Given the description of an element on the screen output the (x, y) to click on. 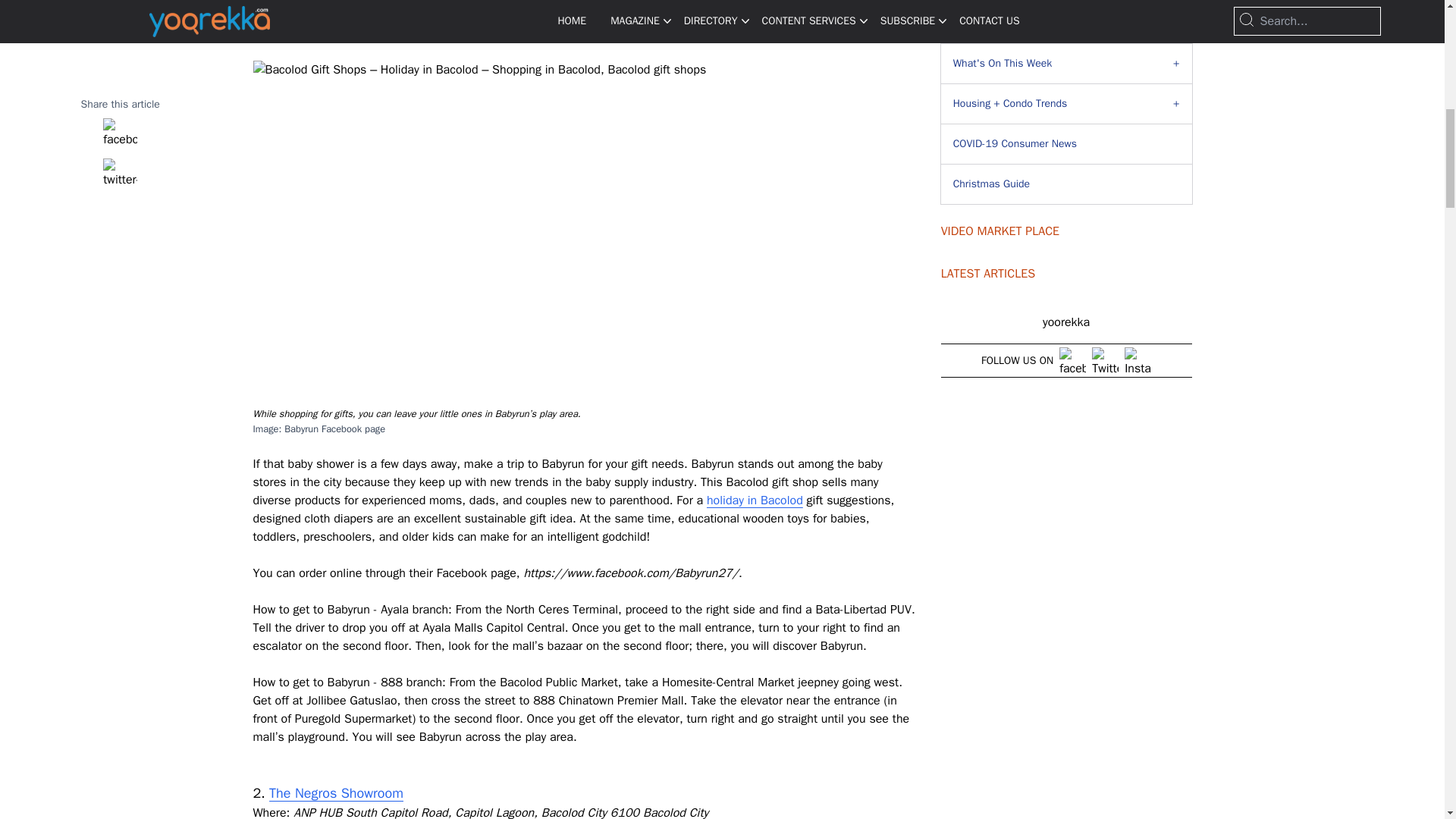
Facebook (1072, 360)
Instagram (1137, 360)
Twitter (1105, 360)
